Given the description of an element on the screen output the (x, y) to click on. 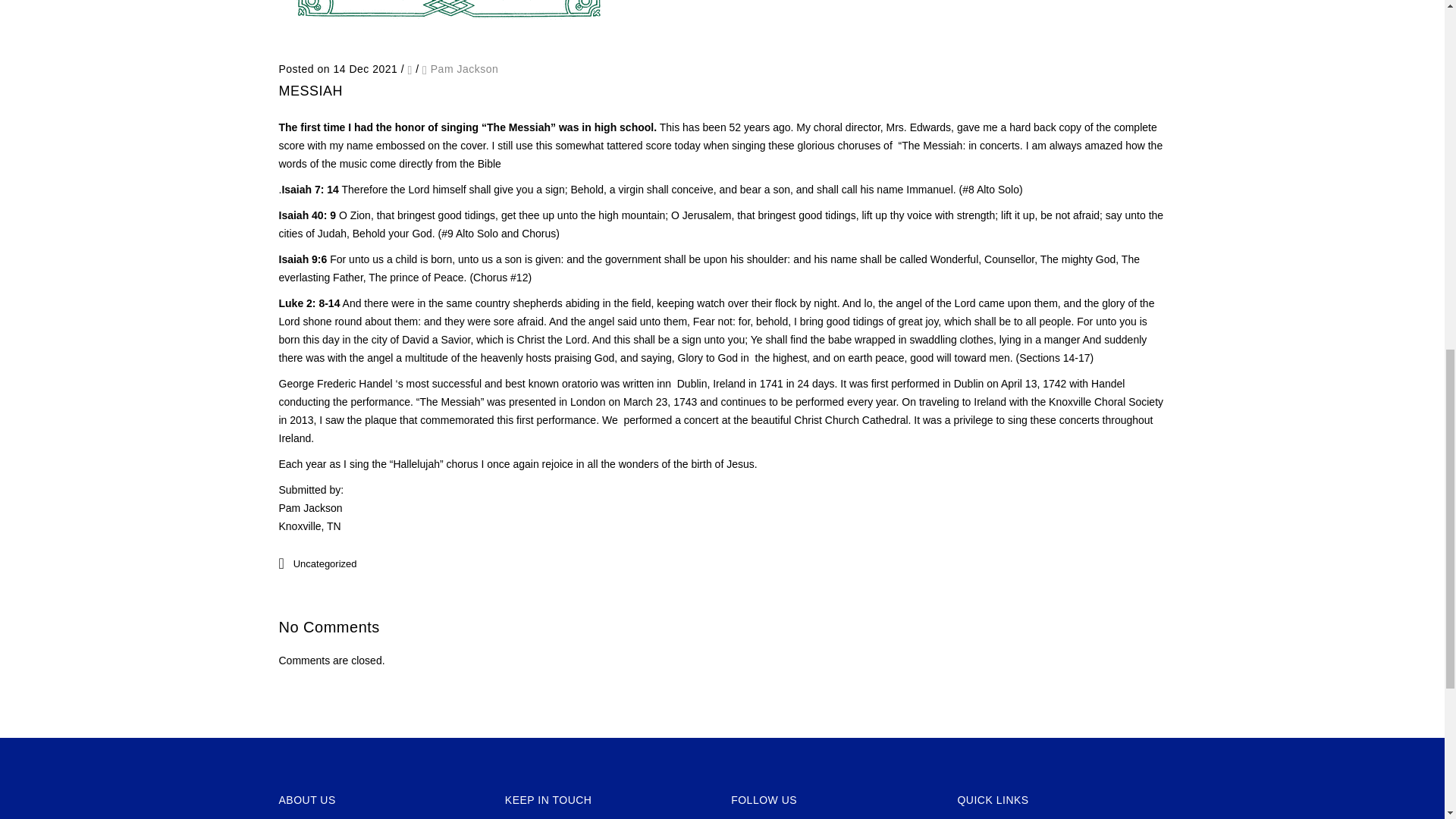
Pam Jackson (464, 69)
Permalink to Messiah (311, 90)
View all posts by Pam Jackson (464, 69)
Uncategorized (325, 563)
Permalink to Messiah (449, 40)
MESSIAH (311, 90)
